Given the description of an element on the screen output the (x, y) to click on. 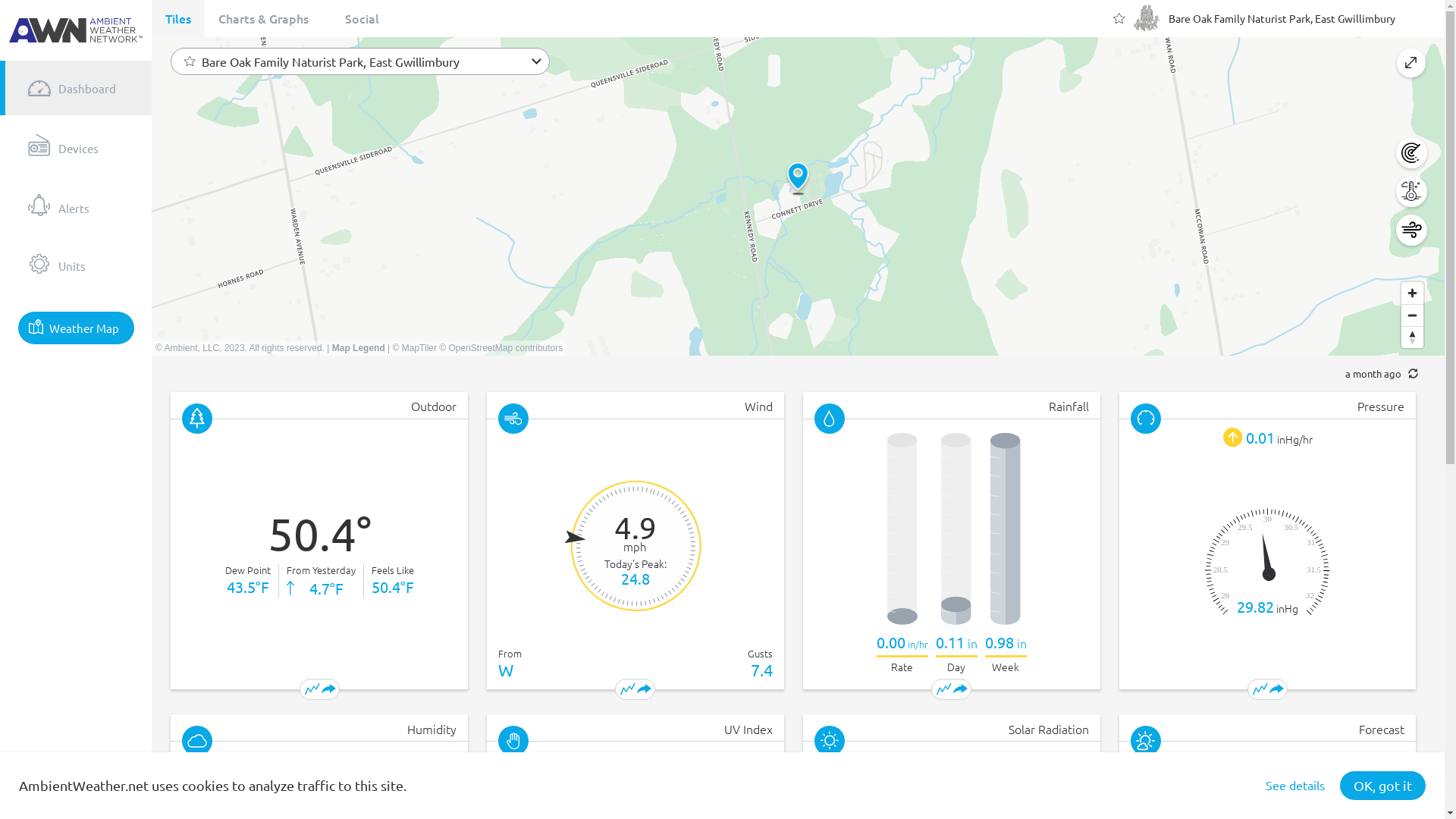
radar Element type: text (1410, 152)
Social Element type: text (361, 18)
Units Element type: text (75, 263)
See details Element type: text (1294, 784)
Jump to graph Element type: hover (944, 689)
Jump to graph Element type: hover (312, 689)
Weather Map Element type: text (76, 327)
Zoom out Element type: hover (1412, 315)
a month ago   Element type: text (797, 373)
Bare Oak Family Naturist Park, East Gwillimbury Element type: text (373, 61)
Alerts Element type: text (75, 205)
OK, got it Element type: text (1382, 785)
Tiles Element type: text (177, 18)
Jump to graph Element type: hover (1260, 689)
Reset bearing to north Element type: hover (1412, 337)
Zoom in Element type: hover (1412, 293)
Charts & Graphs Element type: text (263, 18)
Jump to graph Element type: hover (627, 689)
Dashboard Element type: text (75, 87)
temp Element type: text (1410, 191)
From
W Element type: text (509, 662)
Map Legend Element type: text (358, 347)
wind Element type: text (1410, 229)
Add Device Element type: text (76, 772)
Devices Element type: text (75, 145)
